Given the description of an element on the screen output the (x, y) to click on. 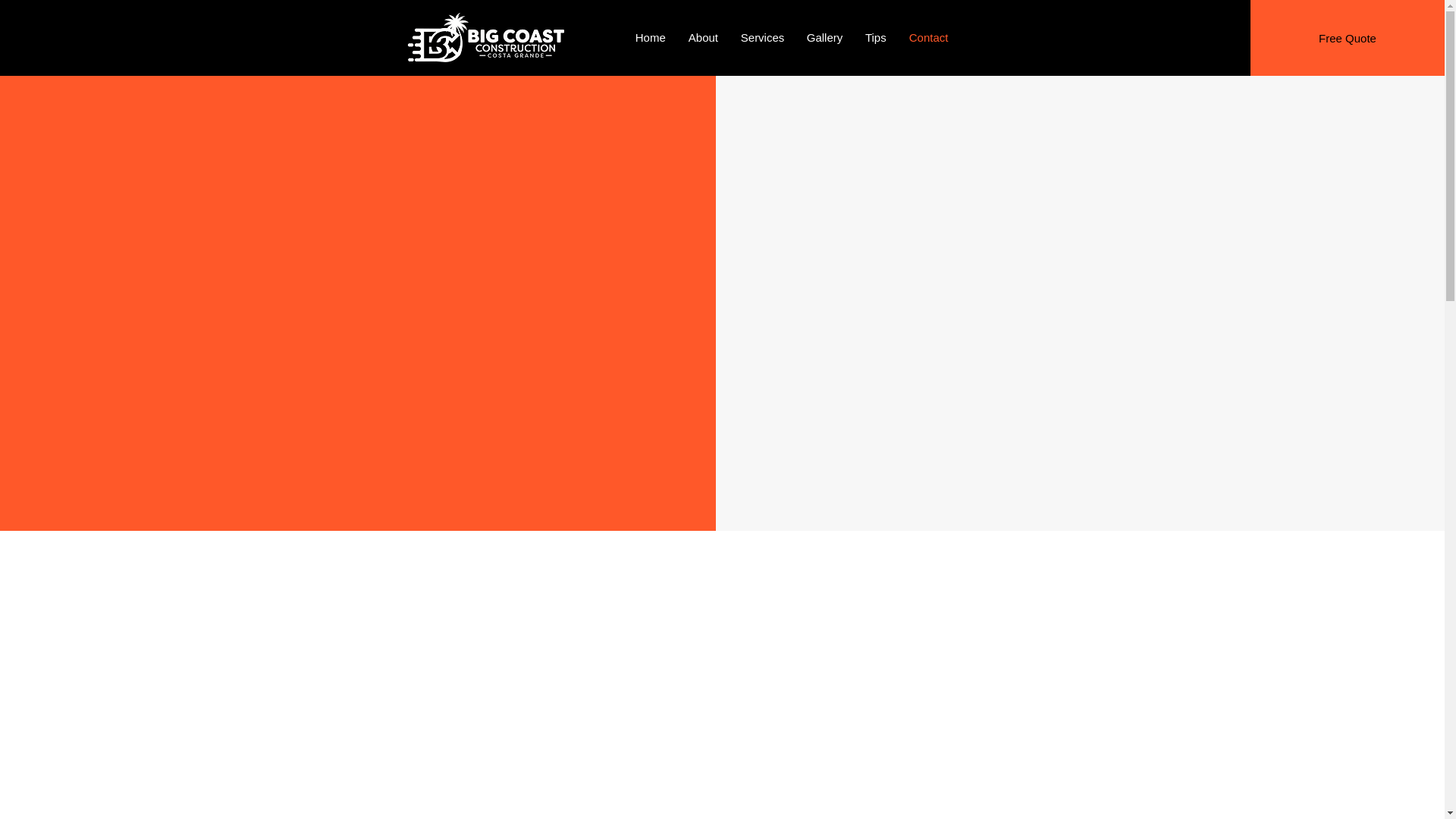
Tips (875, 37)
Services (761, 37)
About (703, 37)
Contact (928, 37)
Home (650, 37)
Gallery (823, 37)
